Given the description of an element on the screen output the (x, y) to click on. 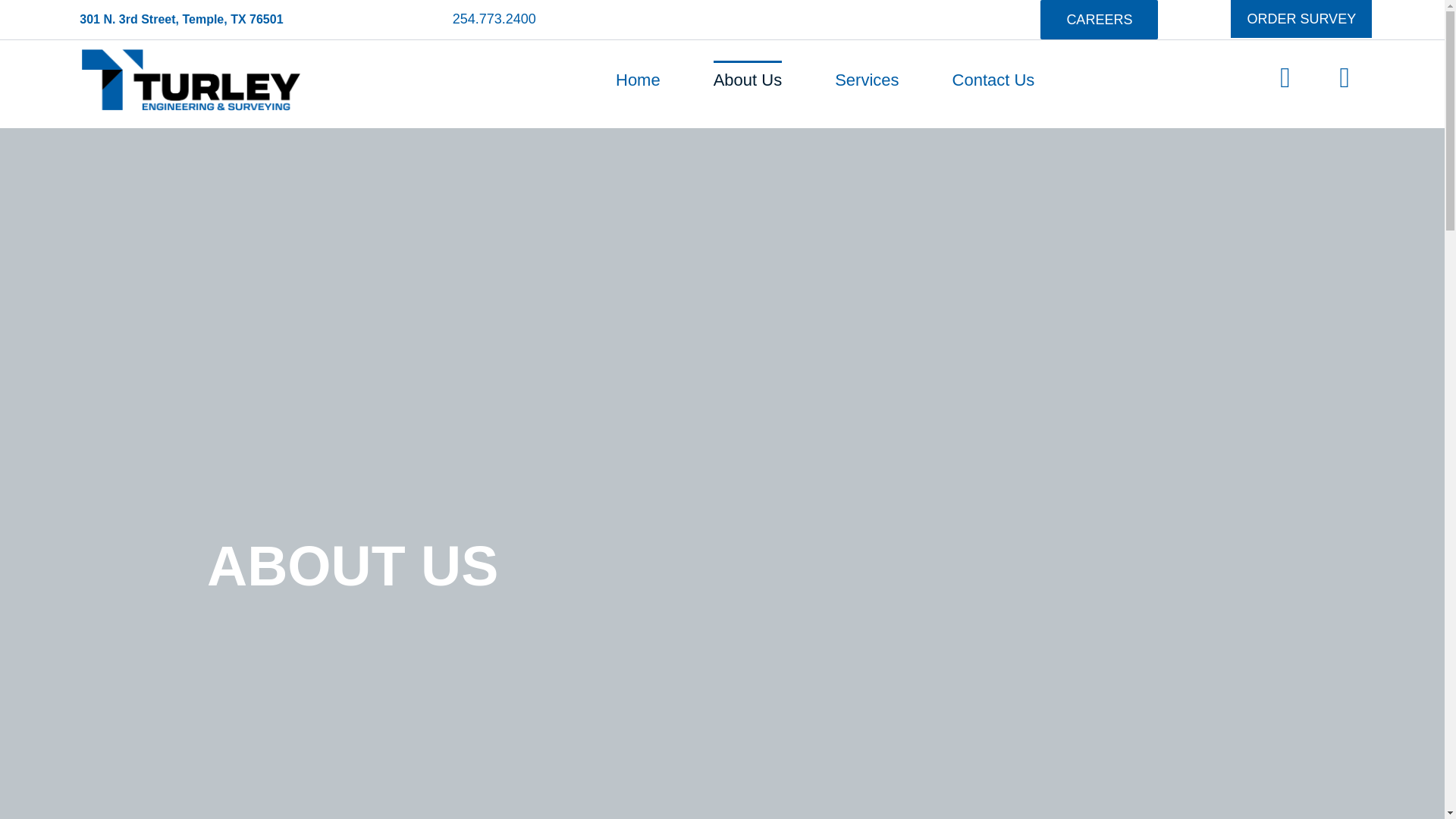
CAREERS (1099, 19)
ORDER SURVEY (1300, 18)
Services (866, 79)
About Us (748, 79)
Contact Us (993, 79)
254.773.2400 (493, 18)
Home (638, 79)
